Given the description of an element on the screen output the (x, y) to click on. 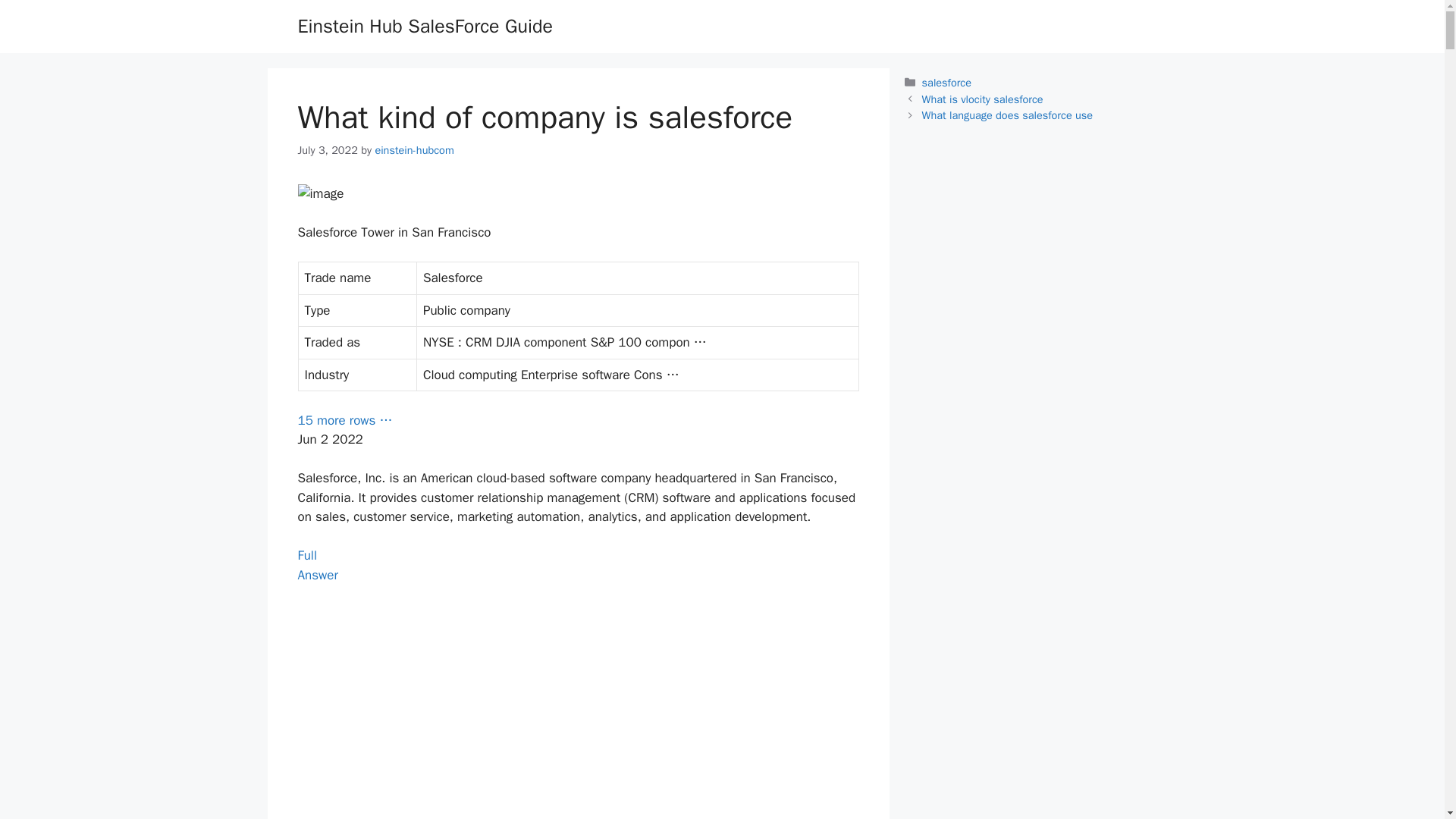
View all posts by einstein-hubcom (413, 150)
einstein-hubcom (317, 565)
Einstein Hub SalesForce Guide (413, 150)
